Given the description of an element on the screen output the (x, y) to click on. 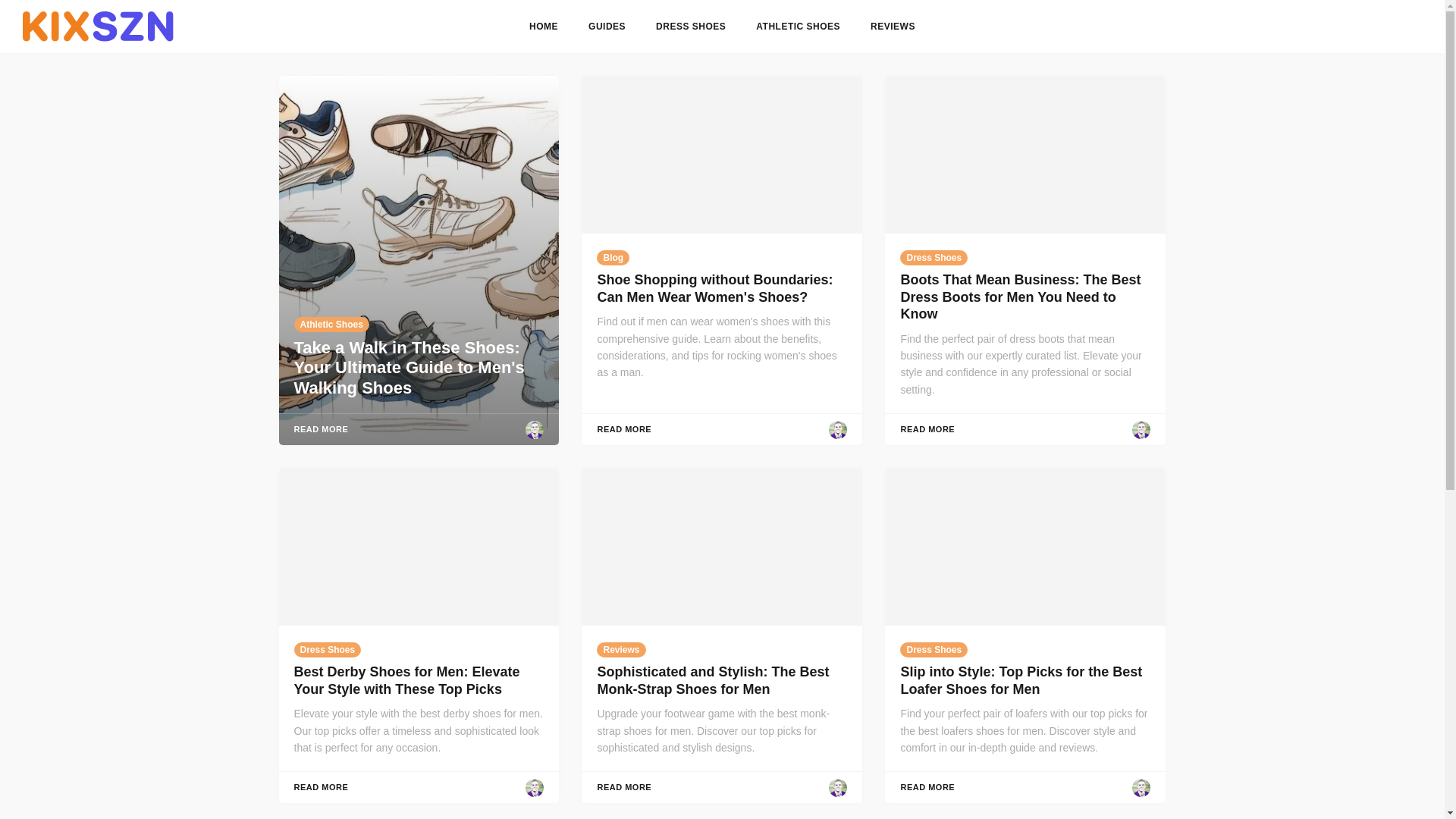
DRESS SHOES (690, 26)
Dress Shoes (327, 649)
Athletic Shoes (331, 324)
READ MORE (623, 786)
GUIDES (607, 26)
READ MORE (623, 429)
READ MORE (927, 429)
READ MORE (321, 786)
Sophisticated and Stylish: The Best Monk-Strap Shoes for Men (712, 680)
Reviews (620, 649)
Dress Shoes (933, 649)
Slip into Style: Top Picks for the Best Loafer Shoes for Men (1020, 680)
Blog (612, 257)
